Given the description of an element on the screen output the (x, y) to click on. 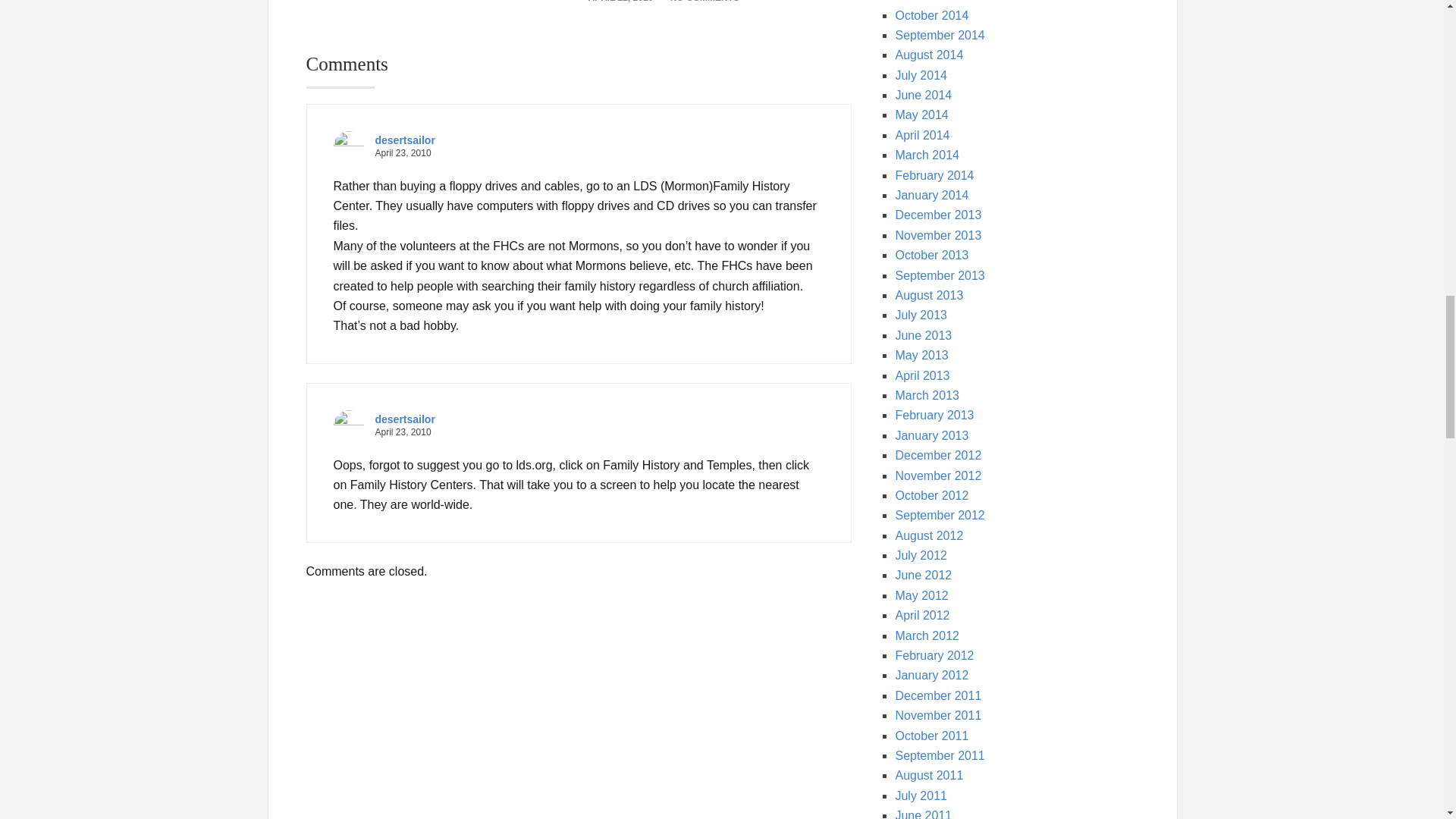
NO COMMENTS (704, 1)
